Given the description of an element on the screen output the (x, y) to click on. 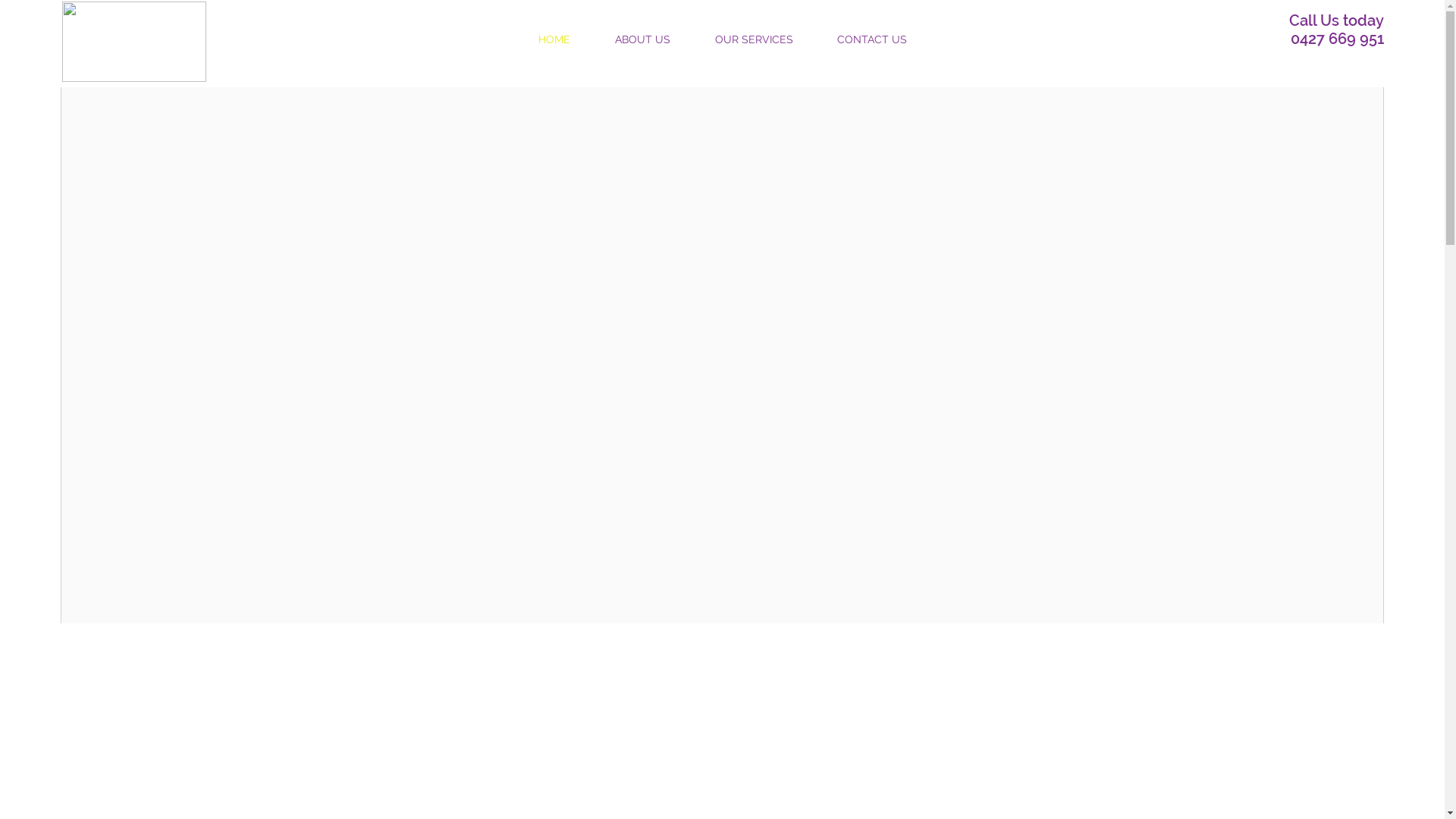
CONTACT US Element type: text (871, 39)
ABOUT US Element type: text (643, 39)
Labels+and+Badges+-+logo+(regular)+copy.png Element type: hover (133, 41)
HOME Element type: text (553, 39)
OUR SERVICES Element type: text (754, 39)
